Given the description of an element on the screen output the (x, y) to click on. 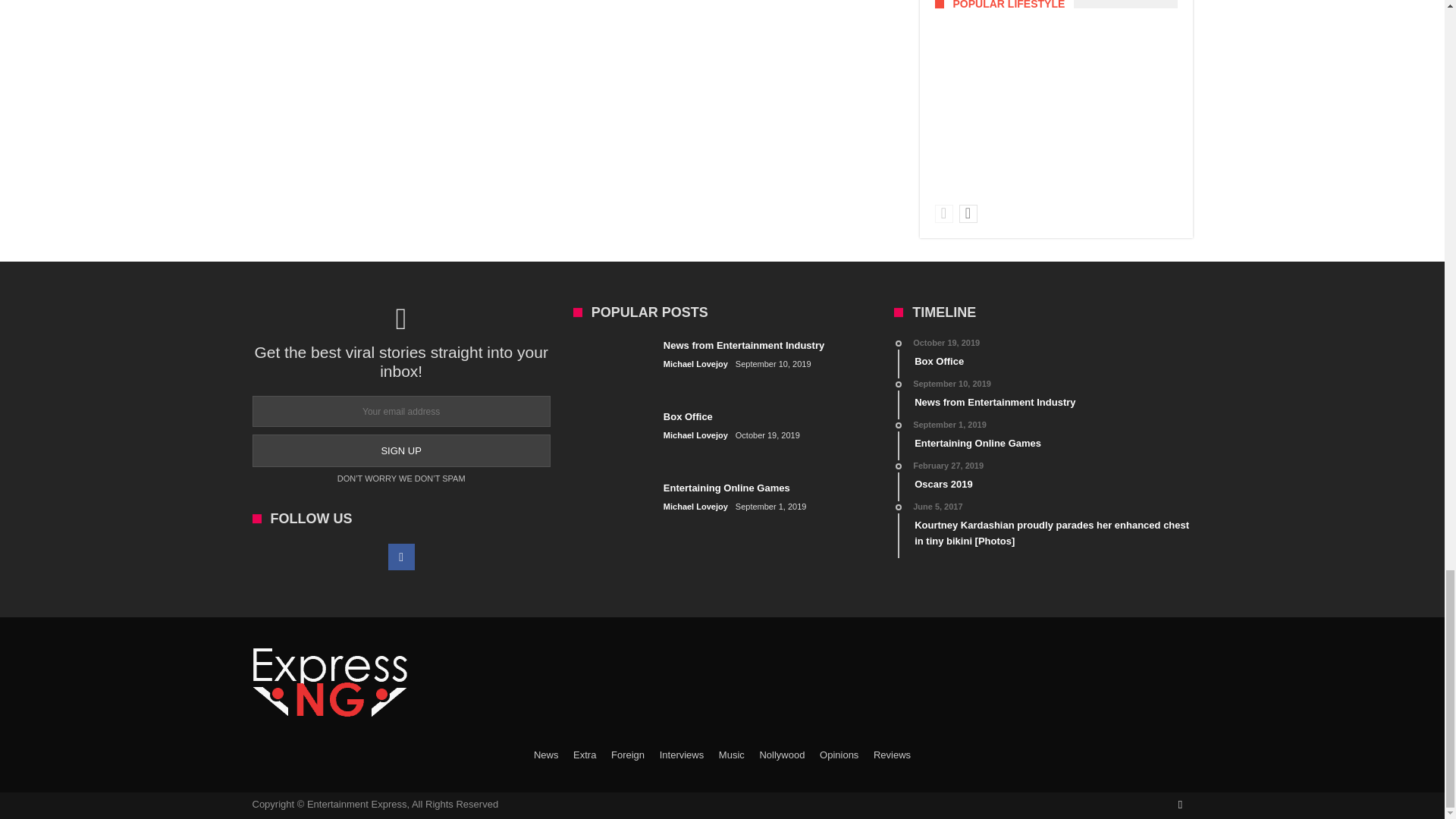
Posts by Michael Lovejoy (695, 364)
Sign up (400, 450)
Facebook (401, 557)
Posts by Michael Lovejoy (695, 435)
Posts by Michael Lovejoy (695, 506)
